Given the description of an element on the screen output the (x, y) to click on. 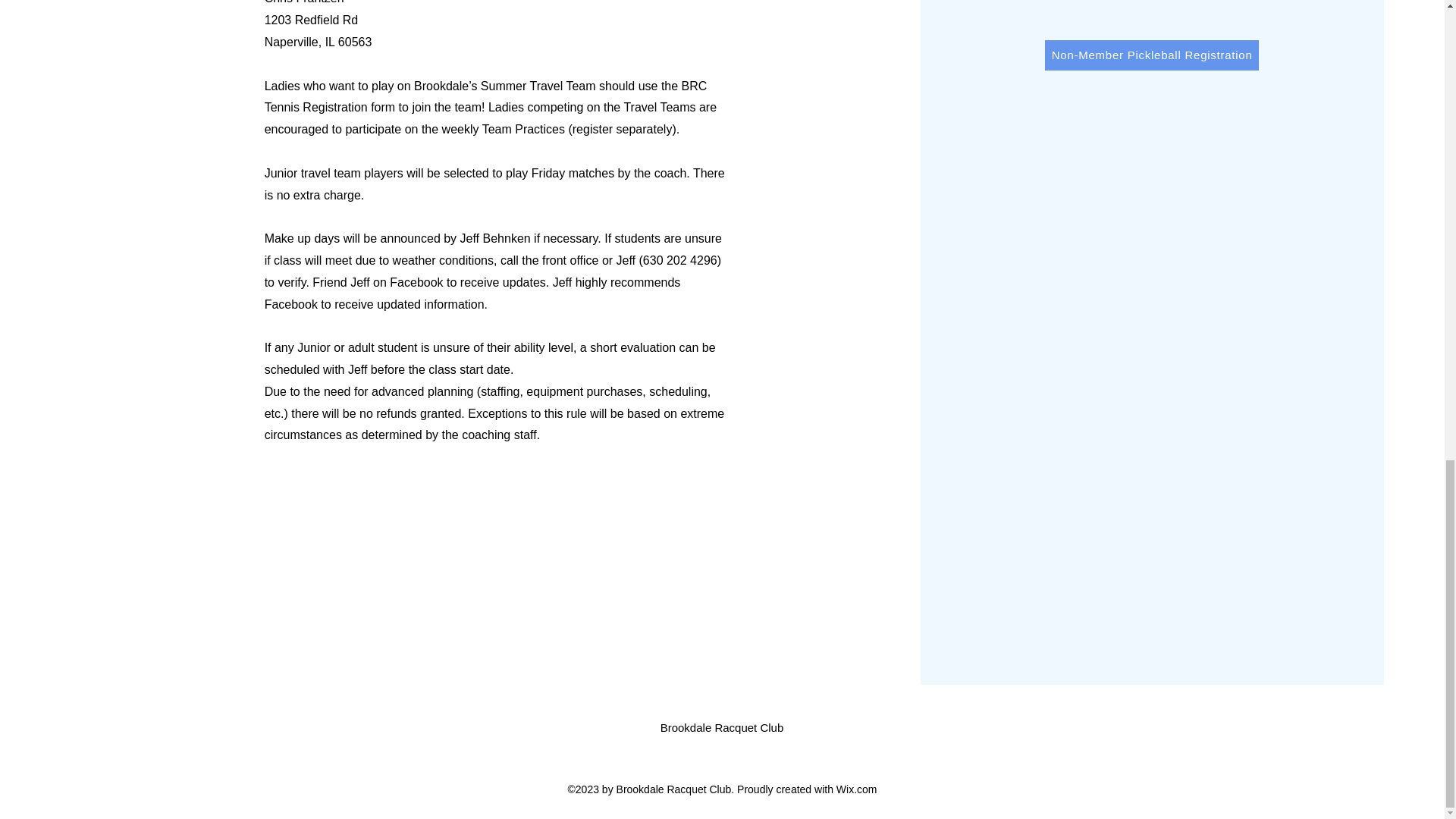
Non-Member Pickleball Registration (1152, 55)
